Given the description of an element on the screen output the (x, y) to click on. 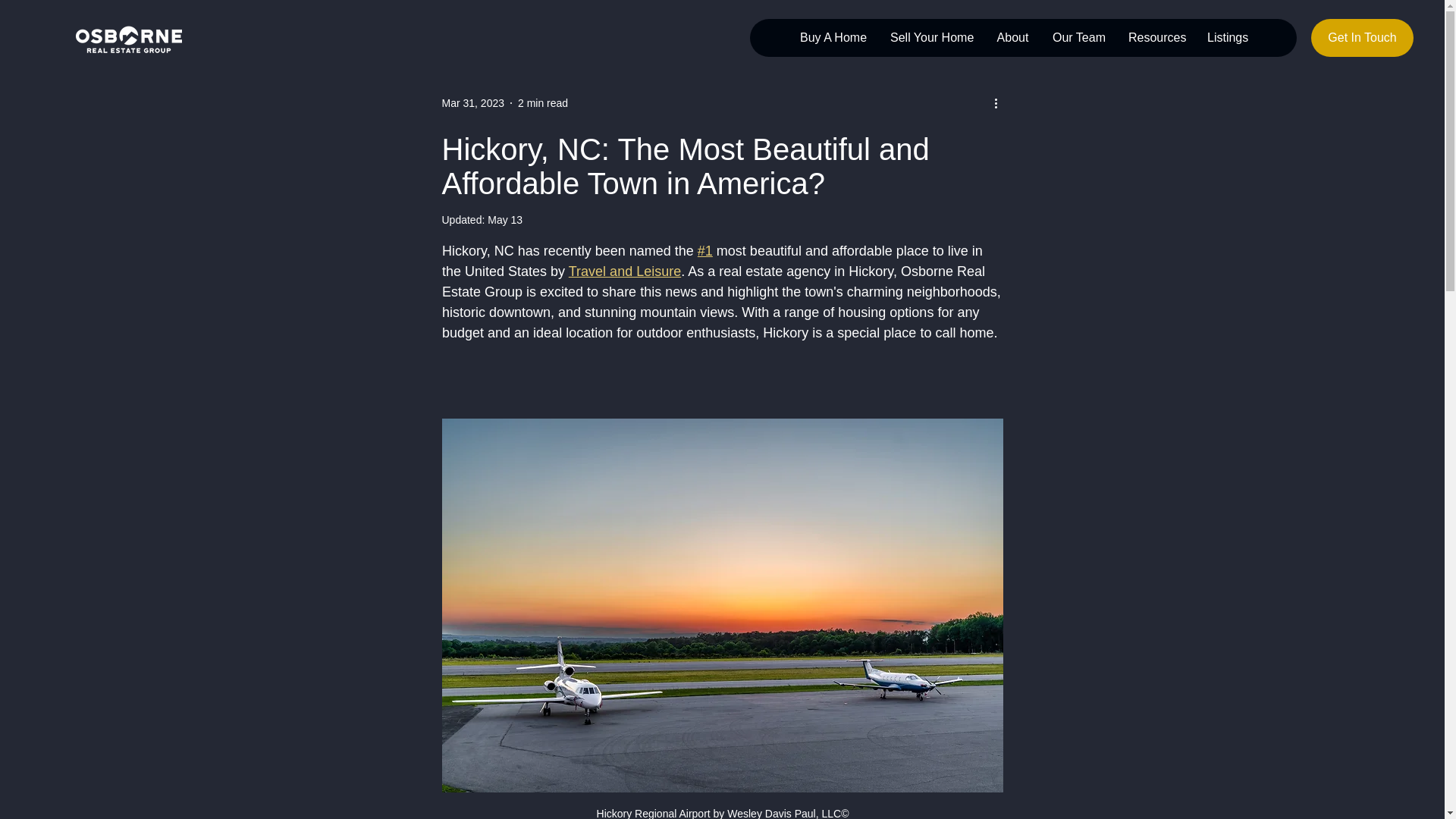
May 13 (504, 219)
2 min read (542, 102)
Sell Your Home (930, 37)
Buy A Home (832, 37)
Get In Touch (1362, 37)
Travel and Leisure (623, 271)
About (1012, 37)
Listings (1227, 37)
Our Team (1078, 37)
Mar 31, 2023 (472, 102)
Resources (1155, 37)
